Given the description of an element on the screen output the (x, y) to click on. 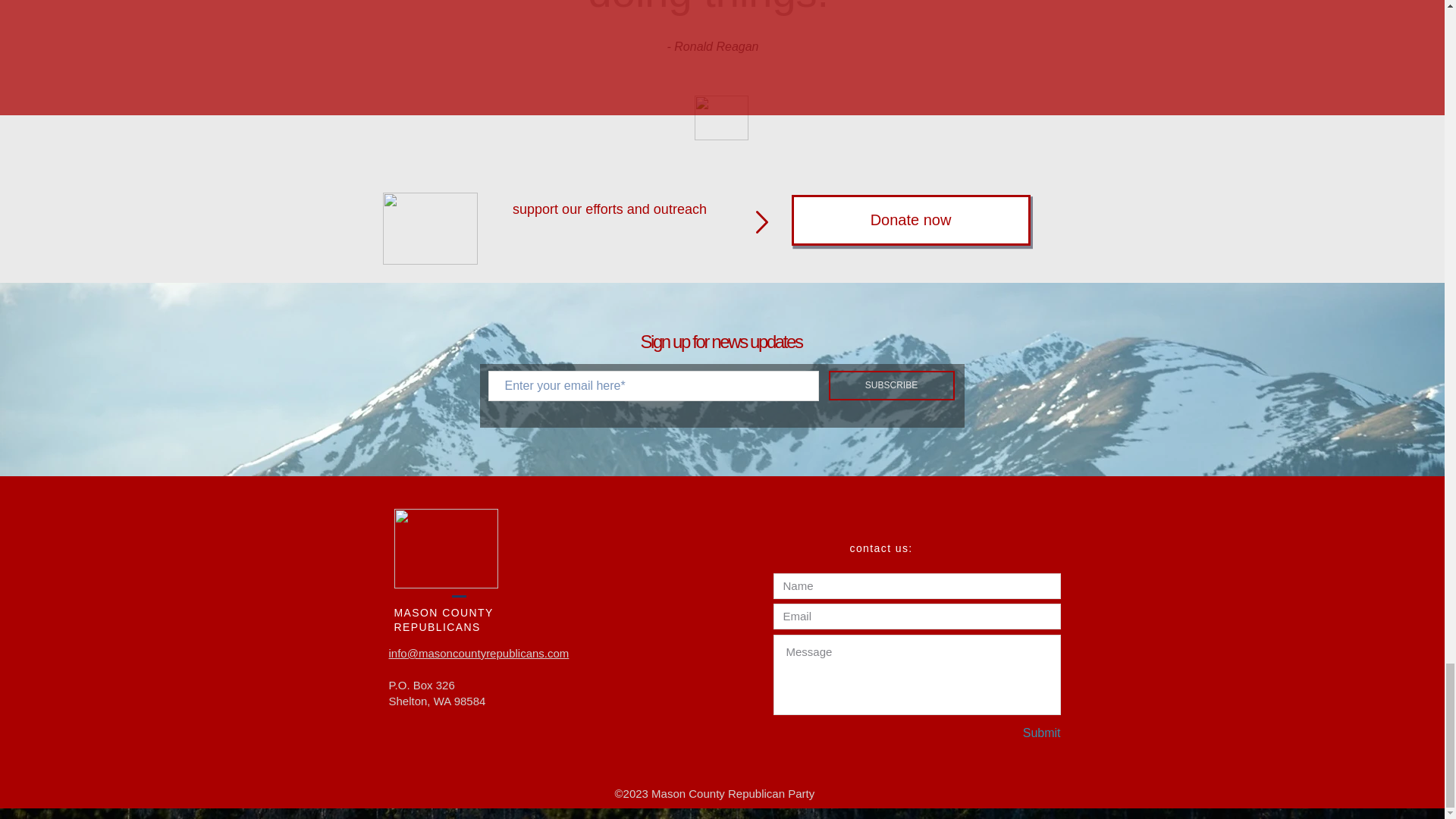
SUBSCRIBE (890, 385)
Submit (1007, 733)
Donate now (911, 219)
